Given the description of an element on the screen output the (x, y) to click on. 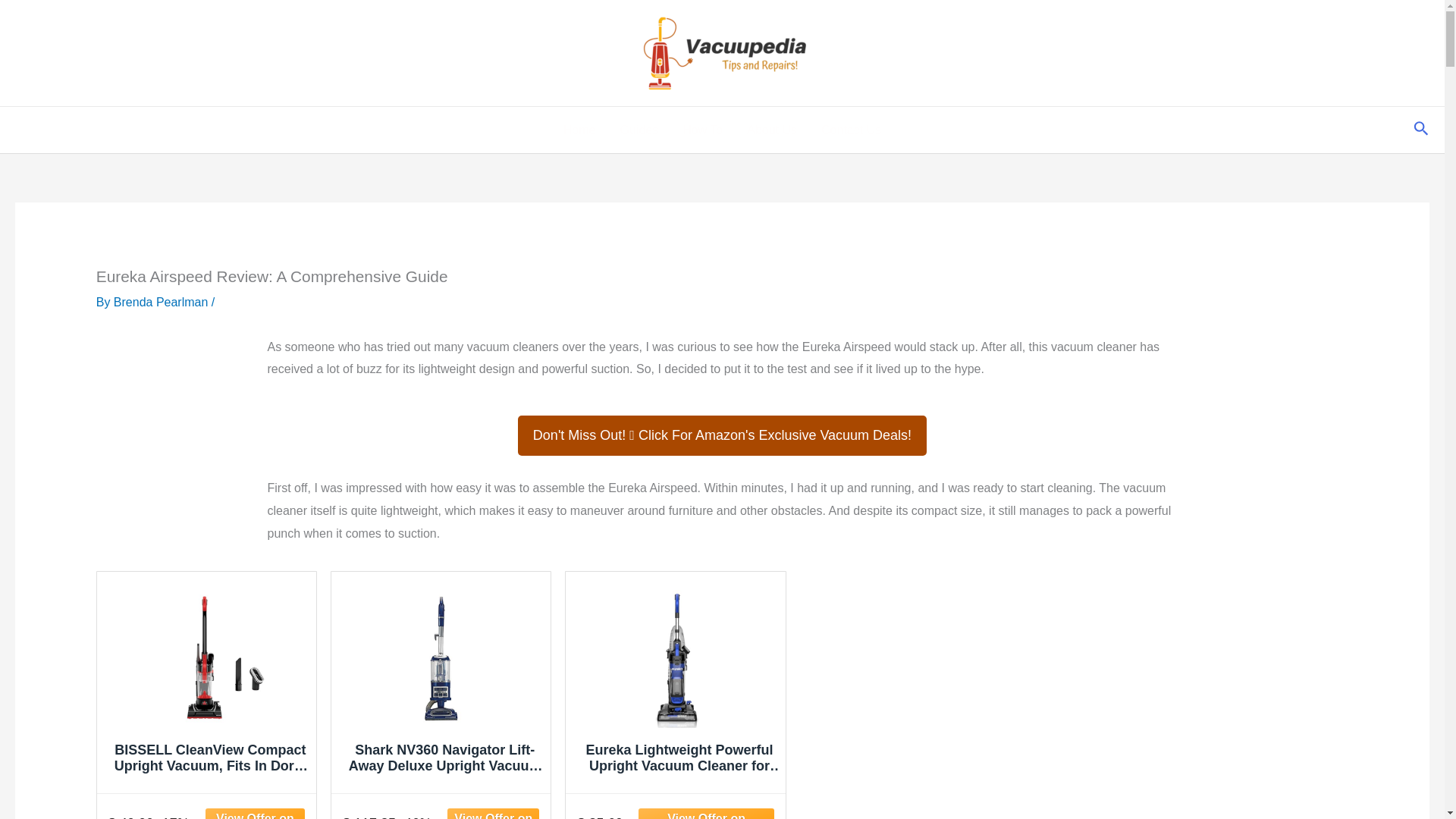
Home (579, 130)
Guides (638, 130)
View all posts by Brenda Pearlman (162, 301)
How To (702, 130)
Contact Us (851, 130)
About Us (772, 130)
Brenda Pearlman (162, 301)
